Given the description of an element on the screen output the (x, y) to click on. 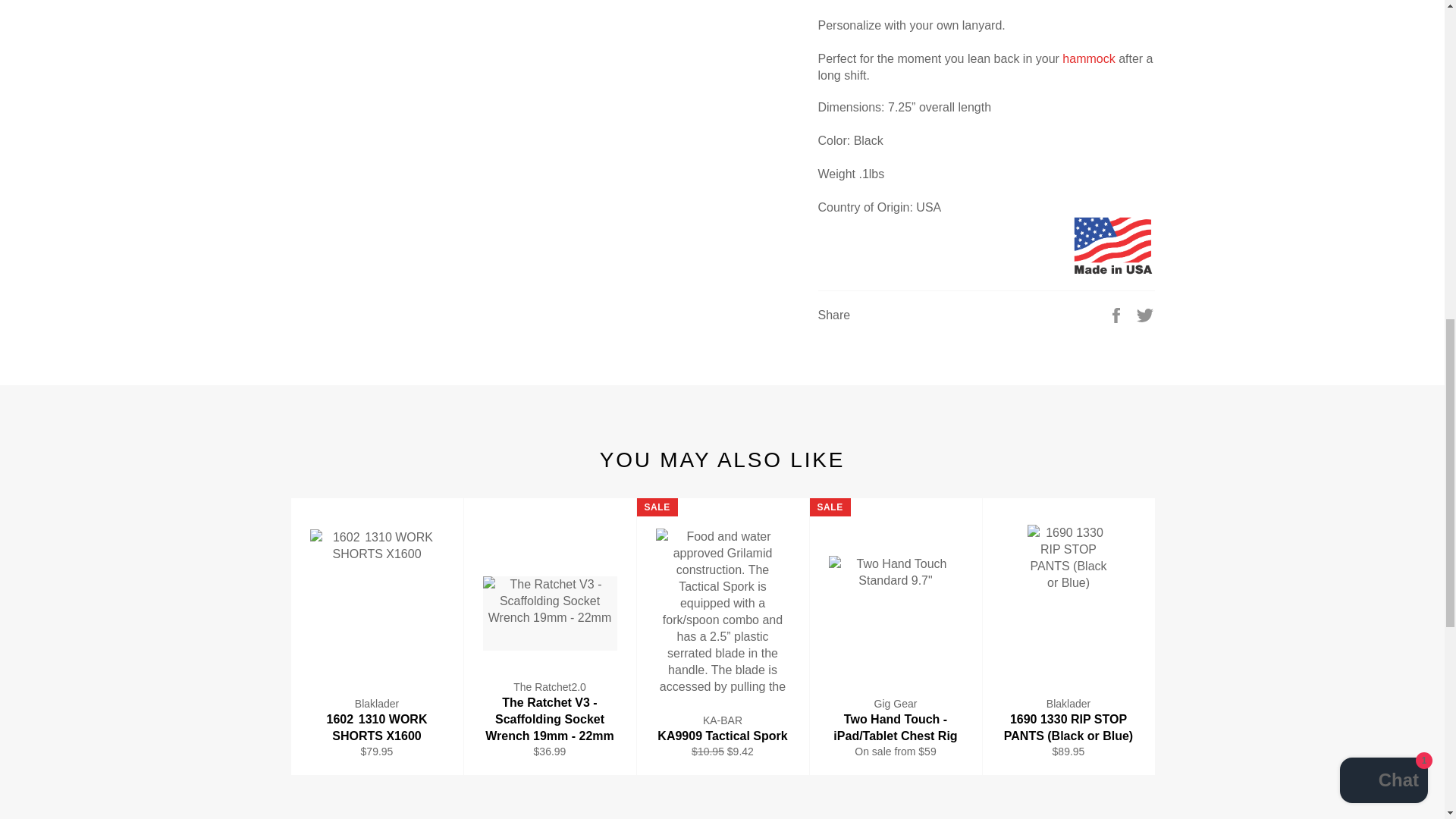
Coghlan's Double Parachute Hammock (1088, 58)
Tweet on Twitter (1144, 314)
Share on Facebook (1117, 314)
